Given the description of an element on the screen output the (x, y) to click on. 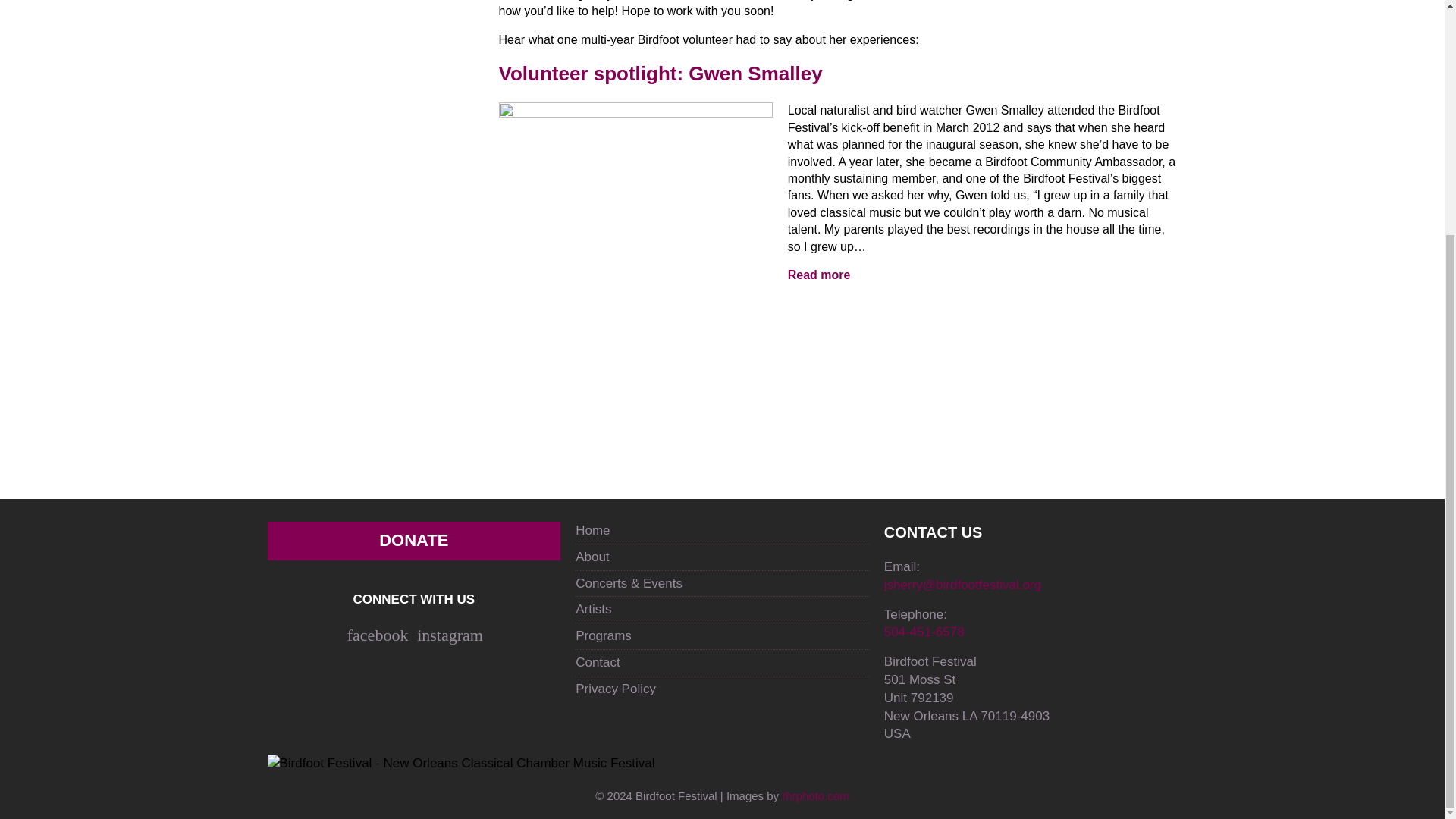
instagram (449, 634)
facebook (378, 634)
504-451-6578 (923, 631)
Volunteer spotlight: Gwen Smalley (818, 274)
Volunteer spotlight: Gwen Smalley (636, 204)
Donate (413, 540)
